Given the description of an element on the screen output the (x, y) to click on. 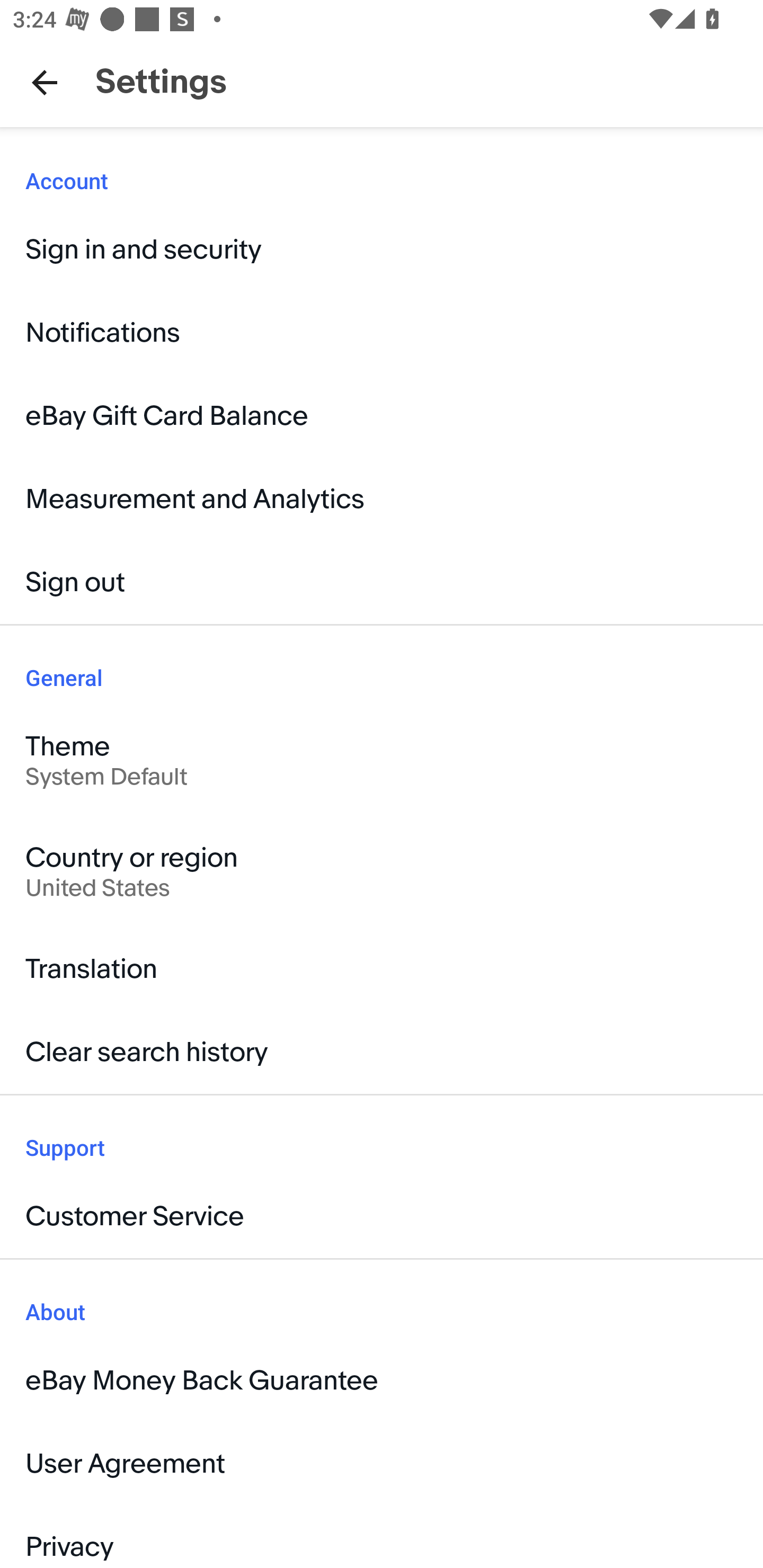
Navigate up (44, 82)
Sign in and security (381, 249)
Notifications (381, 332)
eBay Gift Card Balance (381, 415)
Measurement and Analytics (381, 498)
Sign out (381, 582)
Theme System Default (381, 760)
Country or region United States (381, 872)
Translation (381, 969)
Clear search history (381, 1052)
Customer Service (381, 1215)
eBay Money Back Guarantee (381, 1380)
User Agreement (381, 1463)
Privacy (381, 1536)
